Given the description of an element on the screen output the (x, y) to click on. 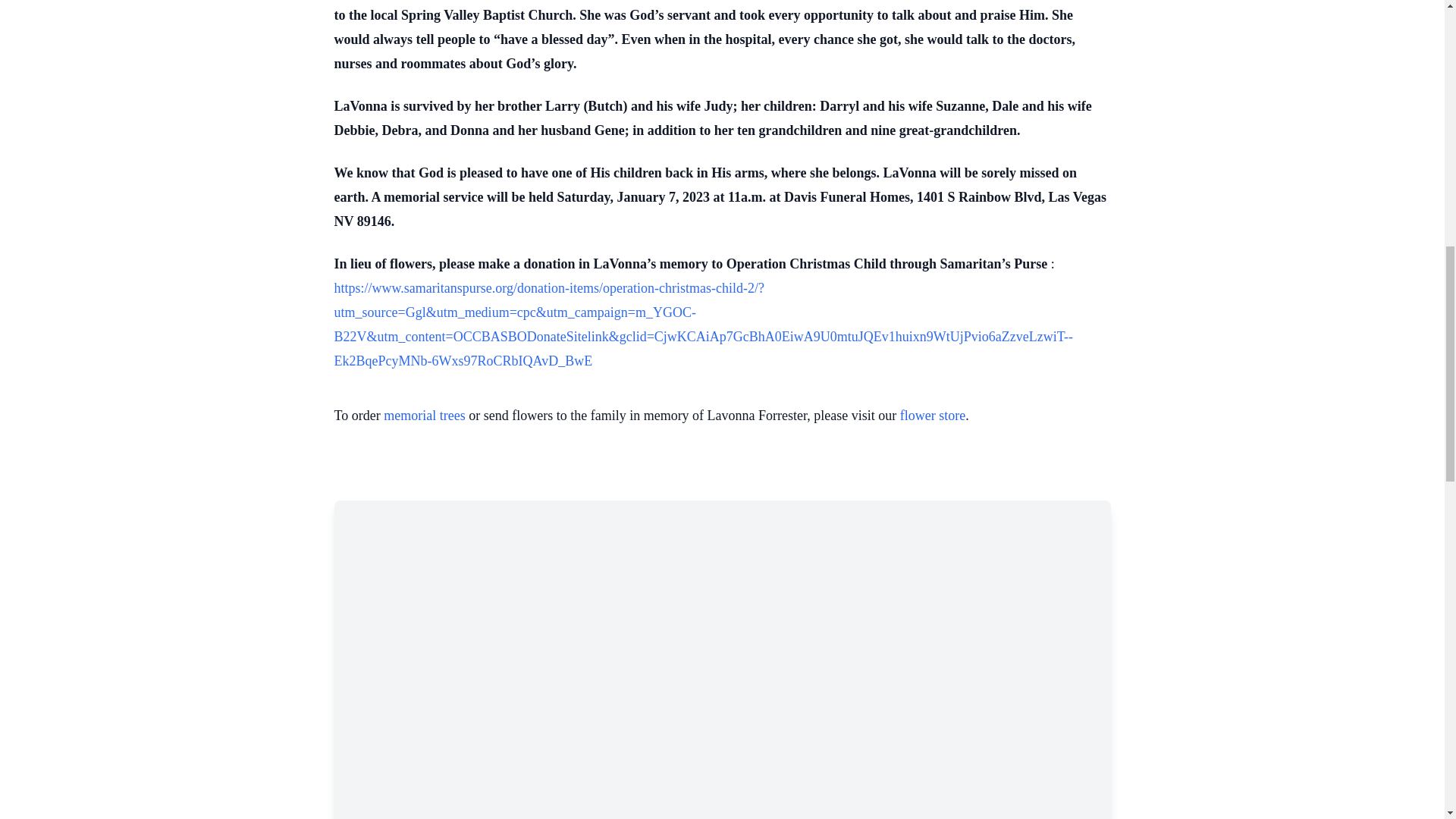
flower store (932, 415)
memorial trees (424, 415)
